Given the description of an element on the screen output the (x, y) to click on. 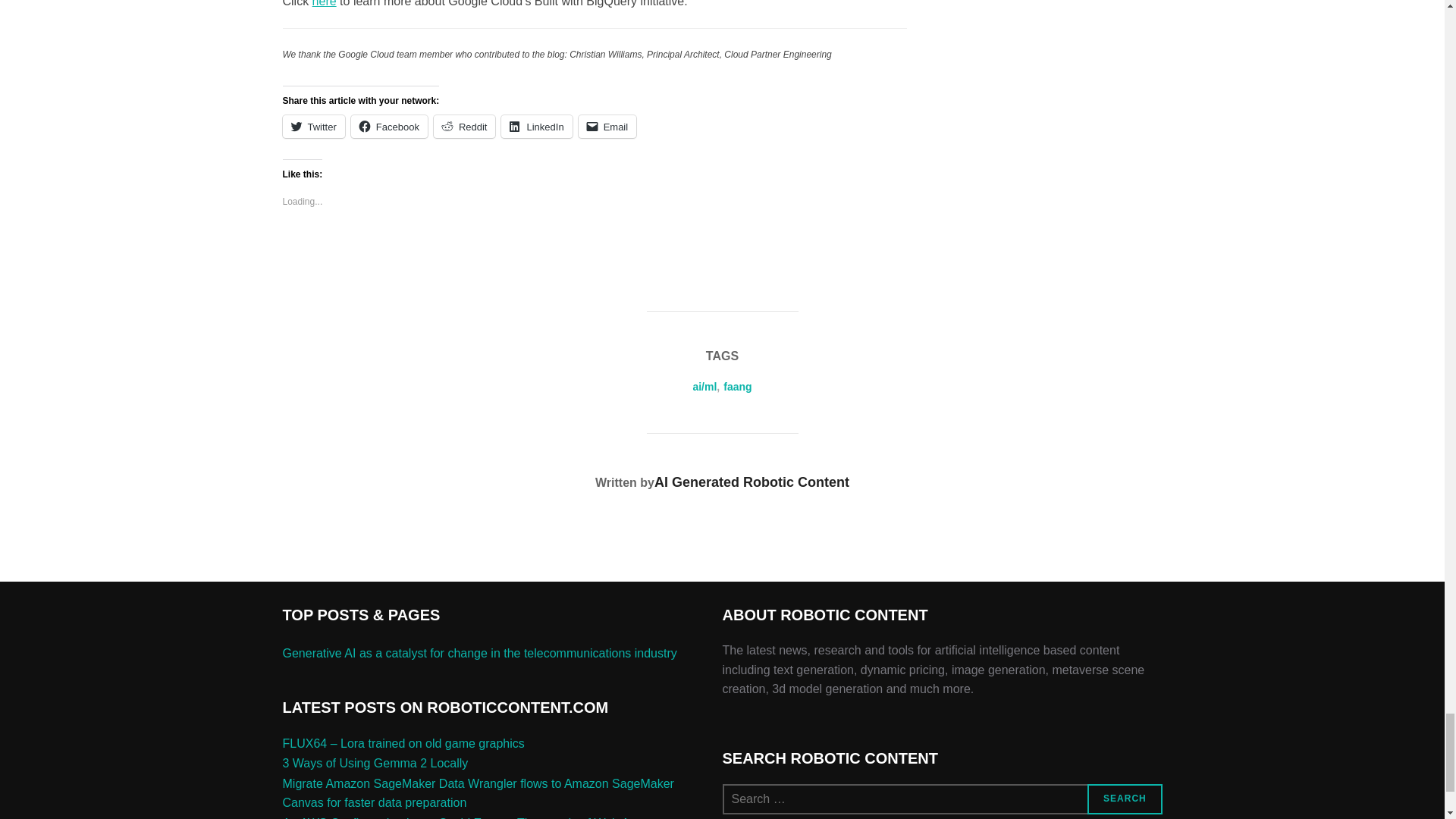
Click to share on Twitter (312, 126)
Posts by AI Generated Robotic Content (750, 482)
Click to email a link to a friend (607, 126)
Click to share on LinkedIn (536, 126)
Click to share on Facebook (389, 126)
Click to share on Reddit (464, 126)
